Given the description of an element on the screen output the (x, y) to click on. 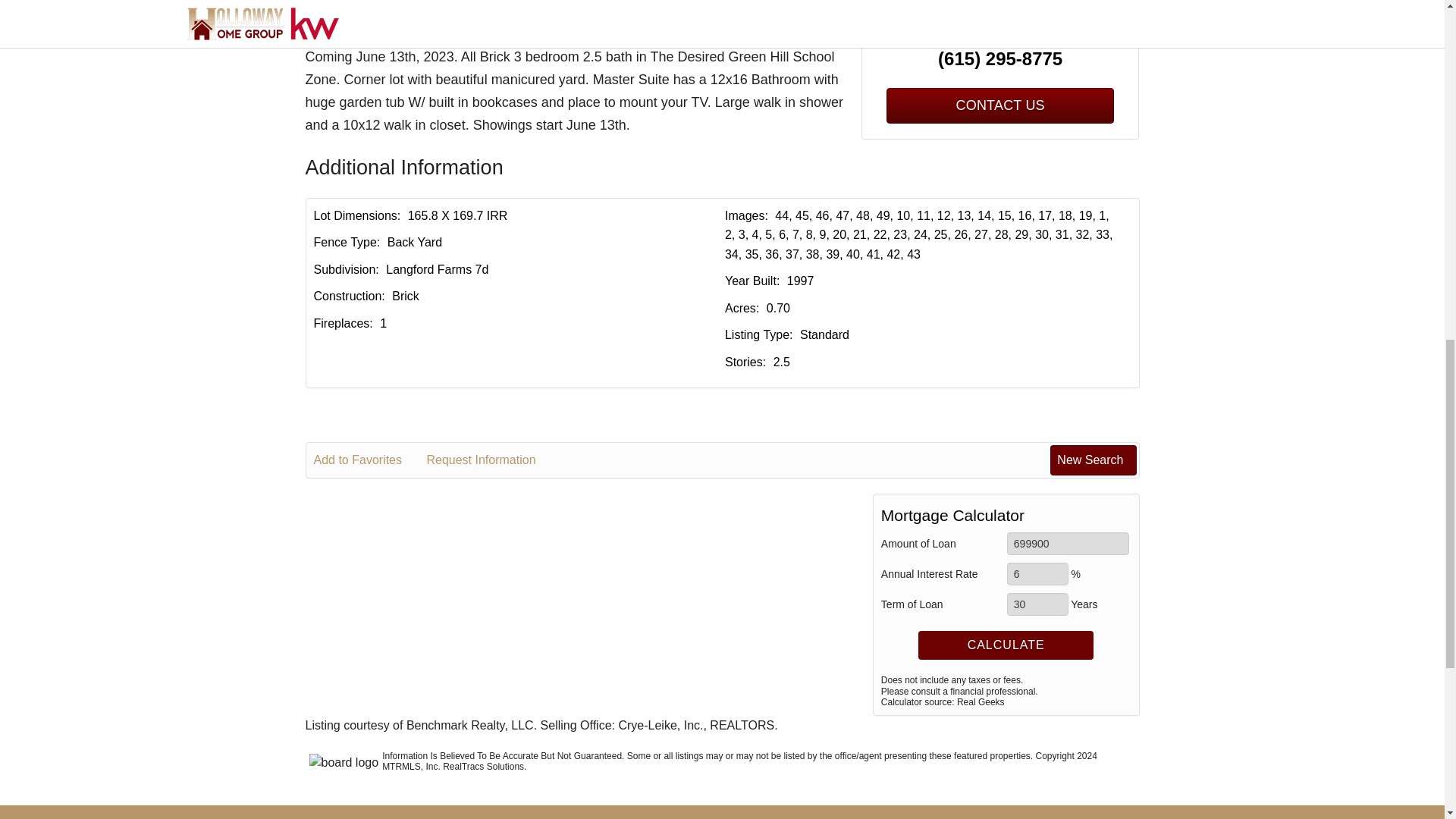
6 (1037, 573)
CONTACT US (999, 105)
30 (1037, 603)
699900 (1068, 543)
